Given the description of an element on the screen output the (x, y) to click on. 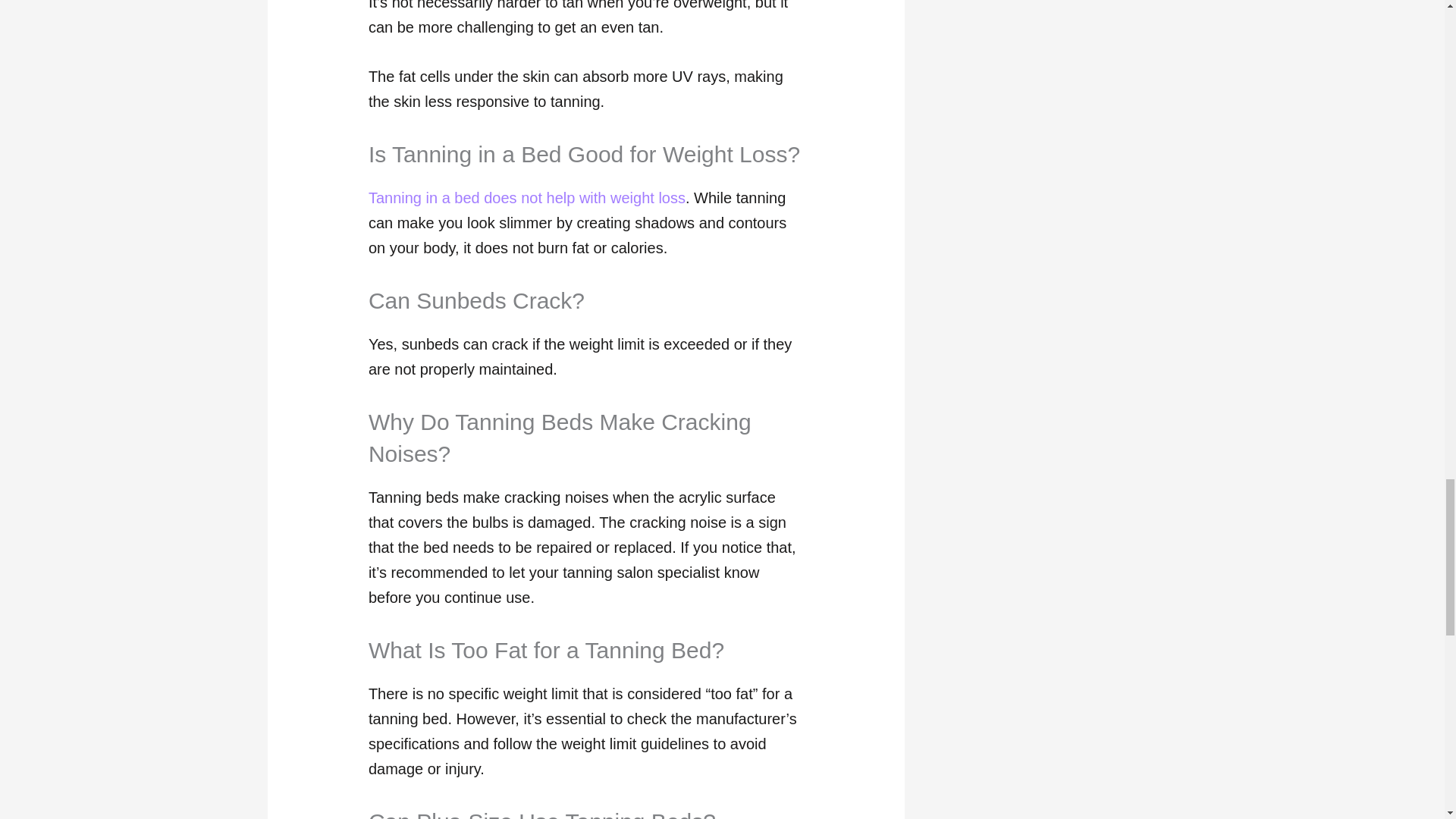
Tanning in a bed does not help with weight loss (526, 197)
